Given the description of an element on the screen output the (x, y) to click on. 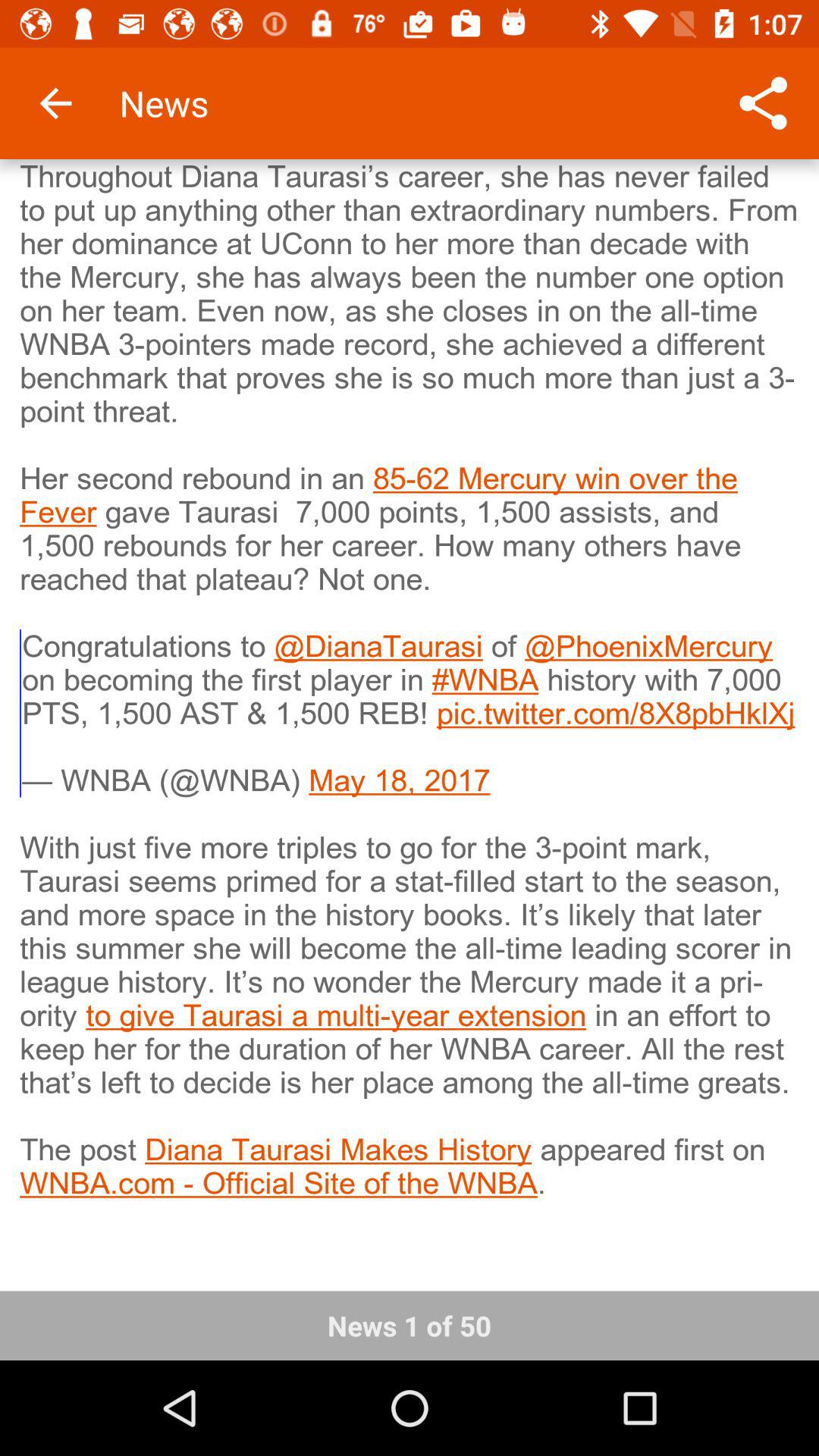
turn on the icon above the throughout diana taurasi (55, 103)
